Given the description of an element on the screen output the (x, y) to click on. 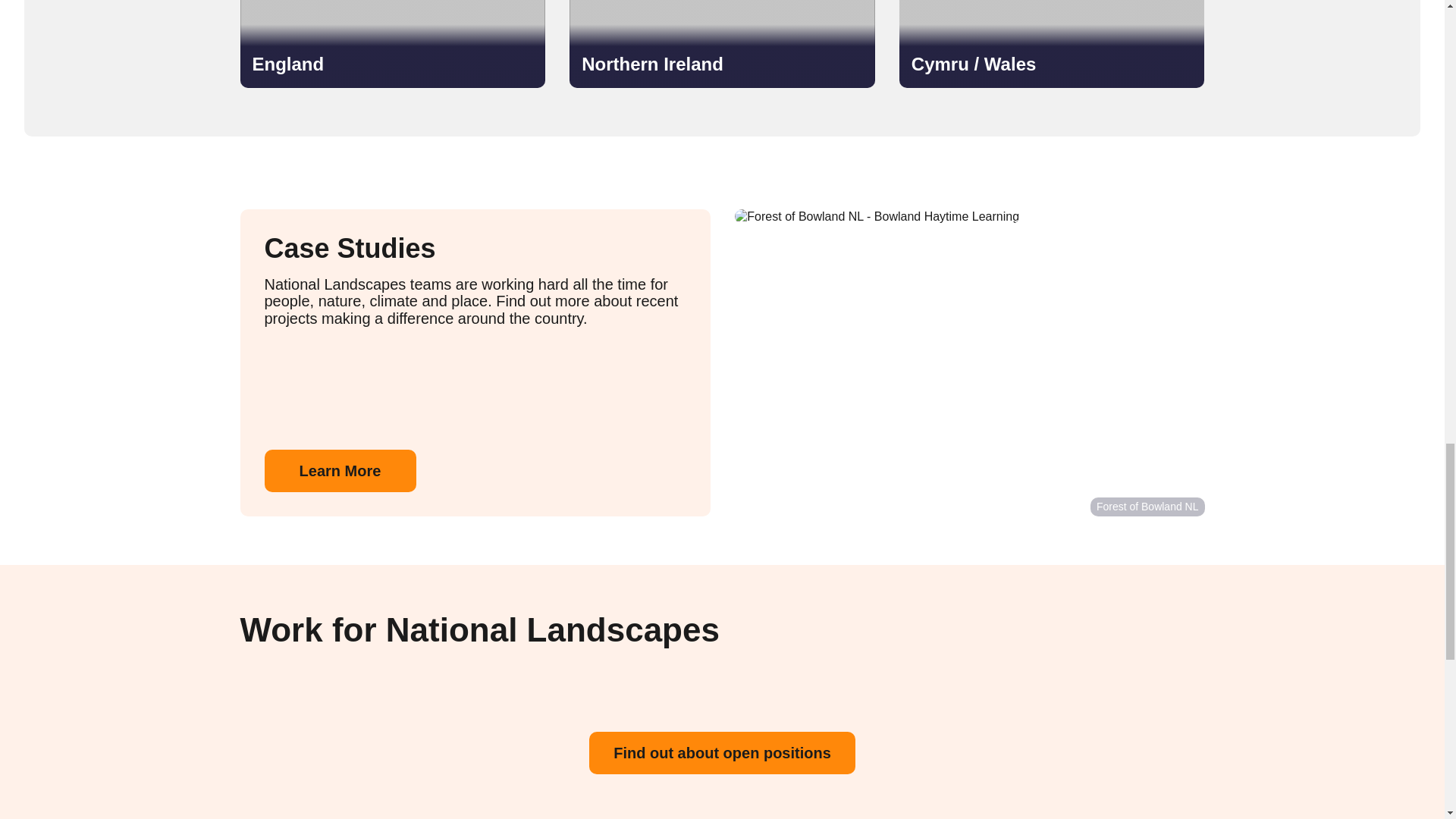
England (392, 43)
Learn More (338, 470)
Northern Ireland (722, 43)
Find out about open positions (722, 752)
